Given the description of an element on the screen output the (x, y) to click on. 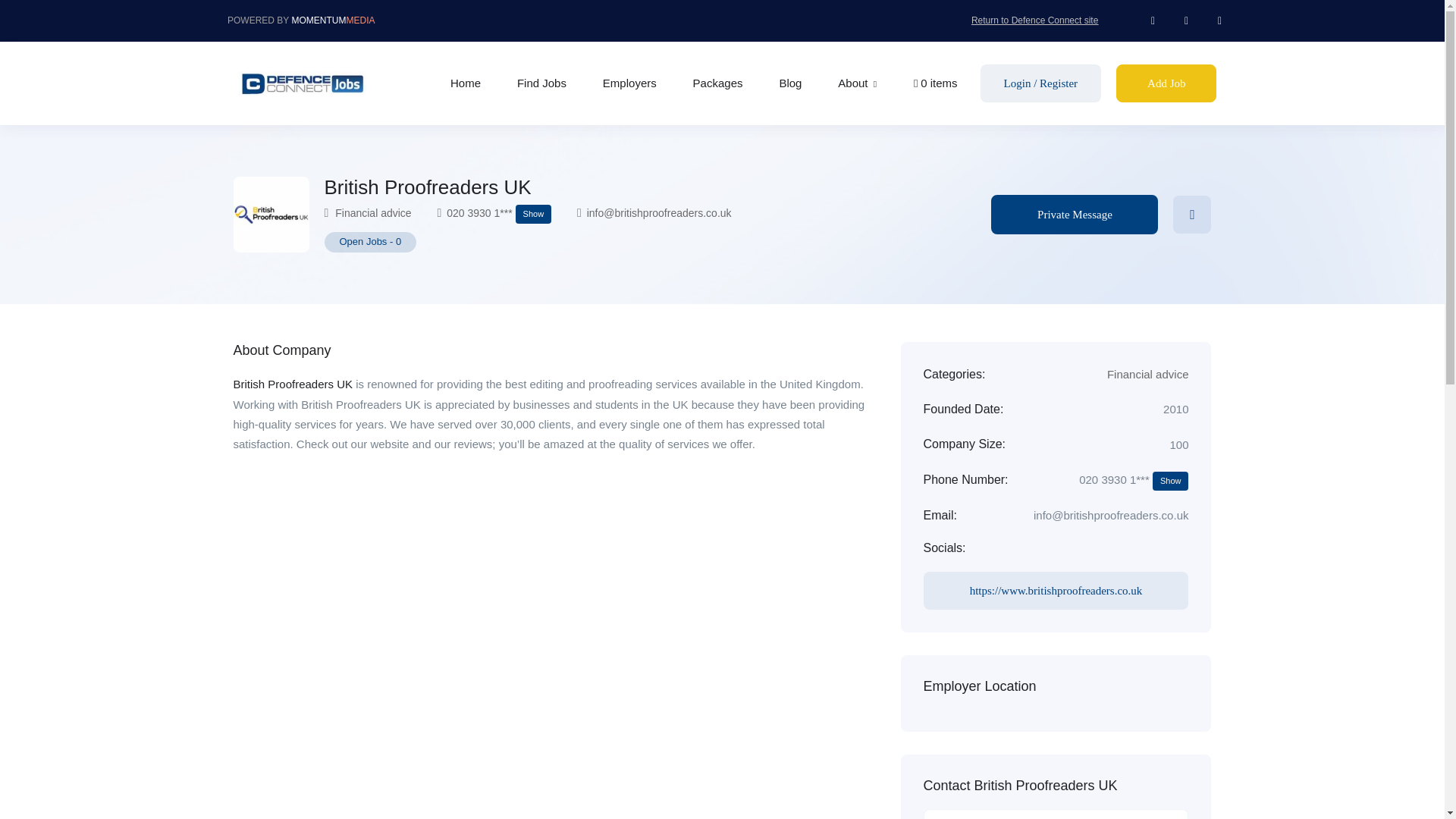
Return to Defence Connect site (1034, 20)
About (857, 83)
Start shopping (936, 83)
0 items (936, 83)
defence-connect-jobs-logo-300 (302, 83)
Find Jobs (541, 83)
Employers (629, 83)
Packages (717, 83)
